Given the description of an element on the screen output the (x, y) to click on. 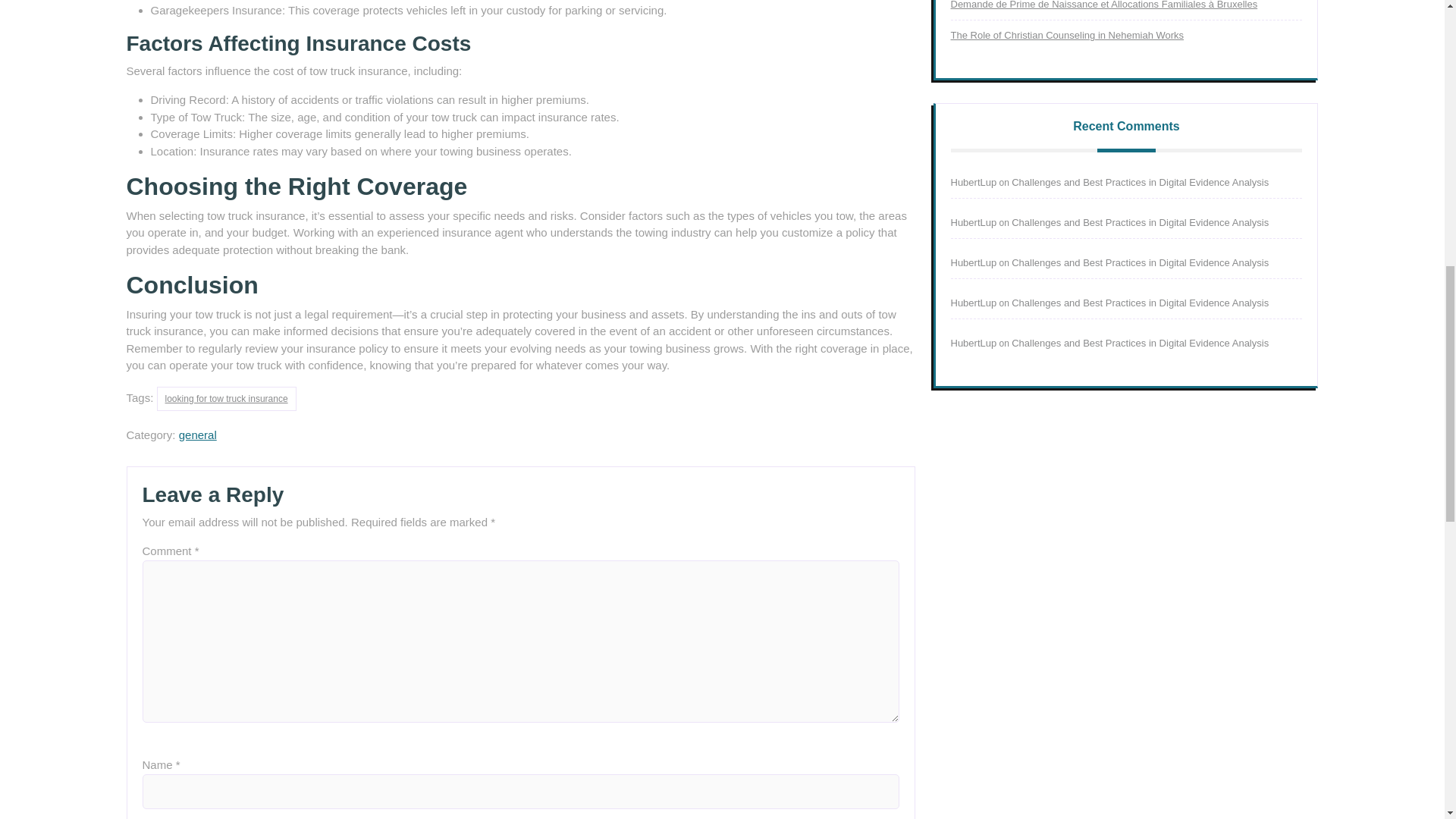
Challenges and Best Practices in Digital Evidence Analysis (1139, 222)
HubertLup (973, 262)
HubertLup (973, 182)
Challenges and Best Practices in Digital Evidence Analysis (1139, 262)
general (197, 434)
HubertLup (973, 222)
HubertLup (973, 302)
Challenges and Best Practices in Digital Evidence Analysis (1139, 182)
looking for tow truck insurance (227, 398)
Challenges and Best Practices in Digital Evidence Analysis (1139, 342)
The Role of Christian Counseling in Nehemiah Works (1067, 34)
Challenges and Best Practices in Digital Evidence Analysis (1139, 302)
HubertLup (973, 342)
